Given the description of an element on the screen output the (x, y) to click on. 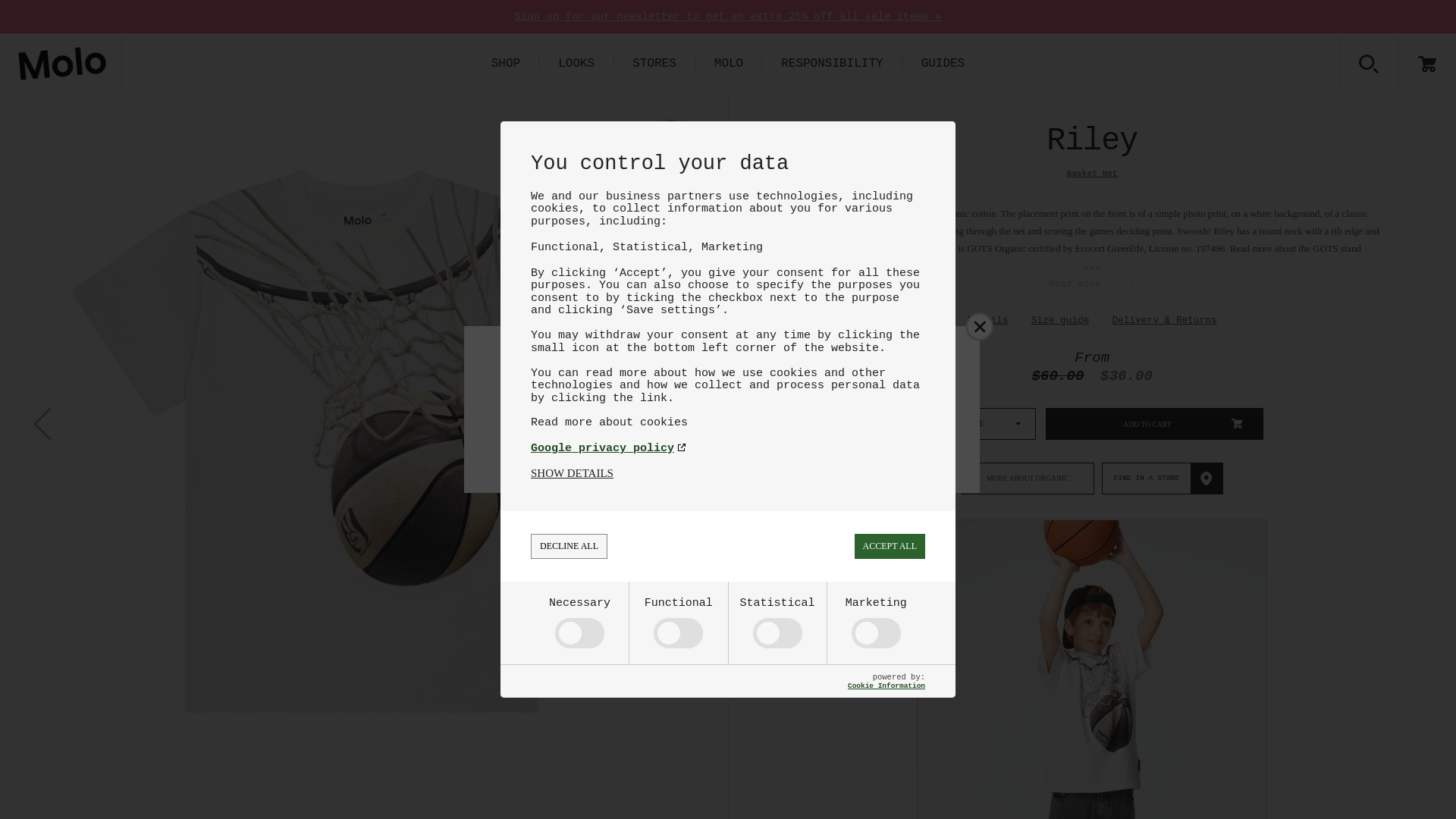
SHOW DETAILS (571, 472)
Google privacy policy (727, 448)
ACCEPT ALL (889, 545)
Read more about cookies (727, 422)
DECLINE ALL (569, 545)
